Given the description of an element on the screen output the (x, y) to click on. 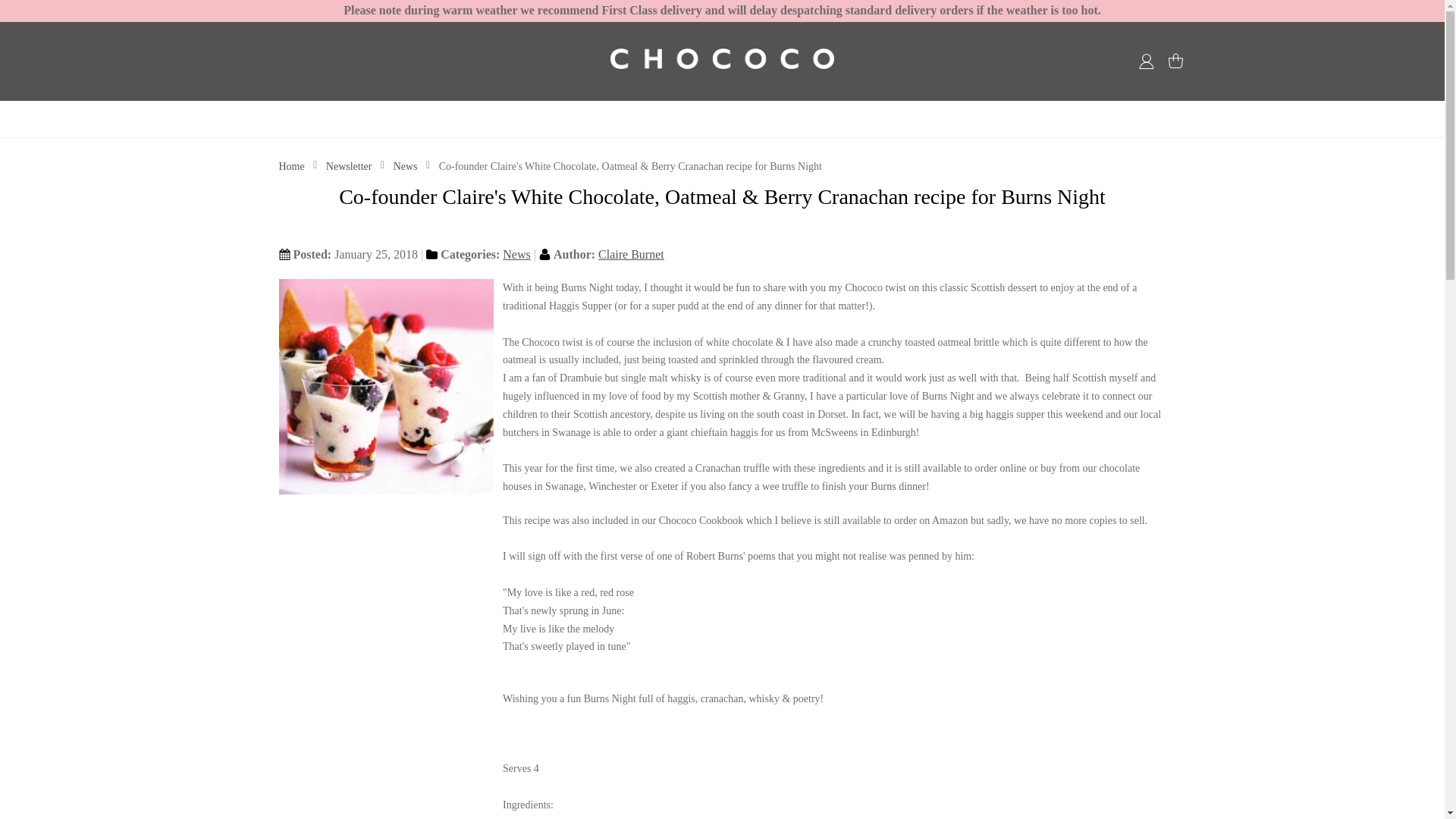
Go to Home Page (293, 165)
News (515, 254)
My Basket (1177, 61)
Newsletter (350, 165)
Claire Burnet (630, 254)
News (406, 165)
